Given the description of an element on the screen output the (x, y) to click on. 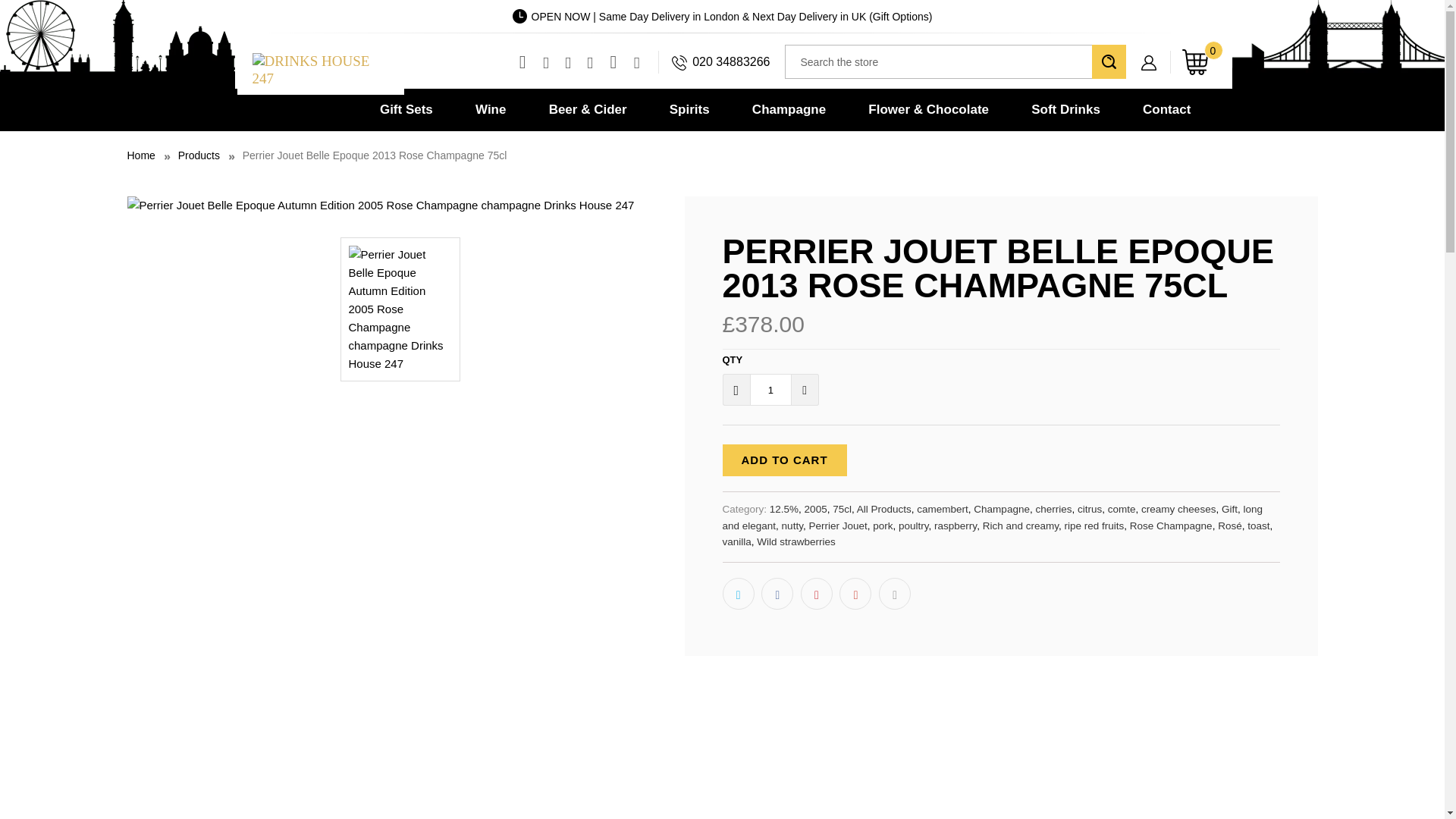
Drinks House 247  on Facebook (545, 62)
Products (198, 155)
Products tagged All Products (884, 509)
Drinks House 247  on YouTube (567, 62)
Email Drinks House 247  (636, 62)
My Account  (1153, 51)
Drinks House 247  (319, 70)
Drinks House 247  on Pinterest (590, 62)
Drinks House 247  (141, 155)
Products tagged camembert (942, 509)
